Given the description of an element on the screen output the (x, y) to click on. 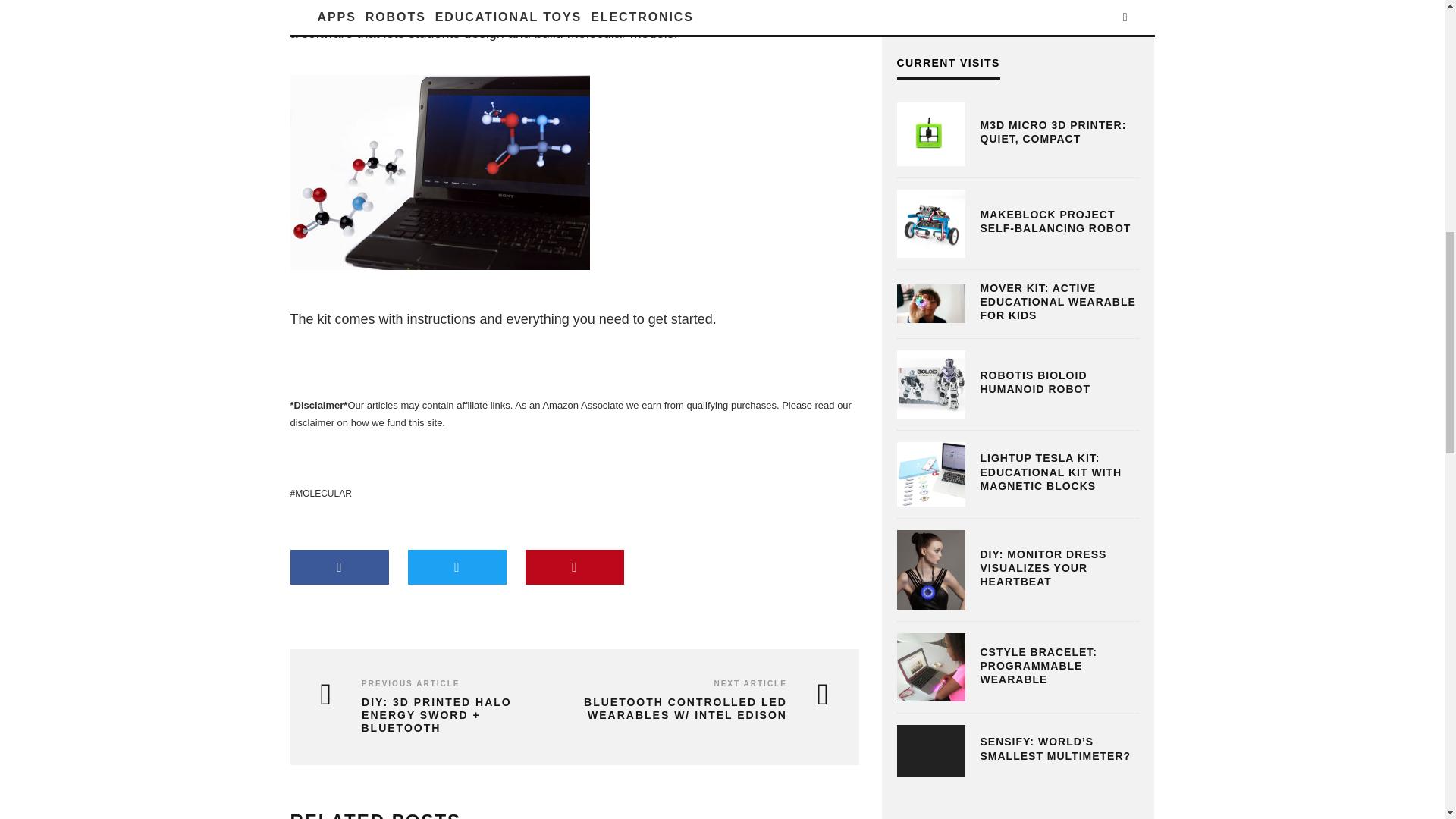
Advertisement (1010, 9)
